Given the description of an element on the screen output the (x, y) to click on. 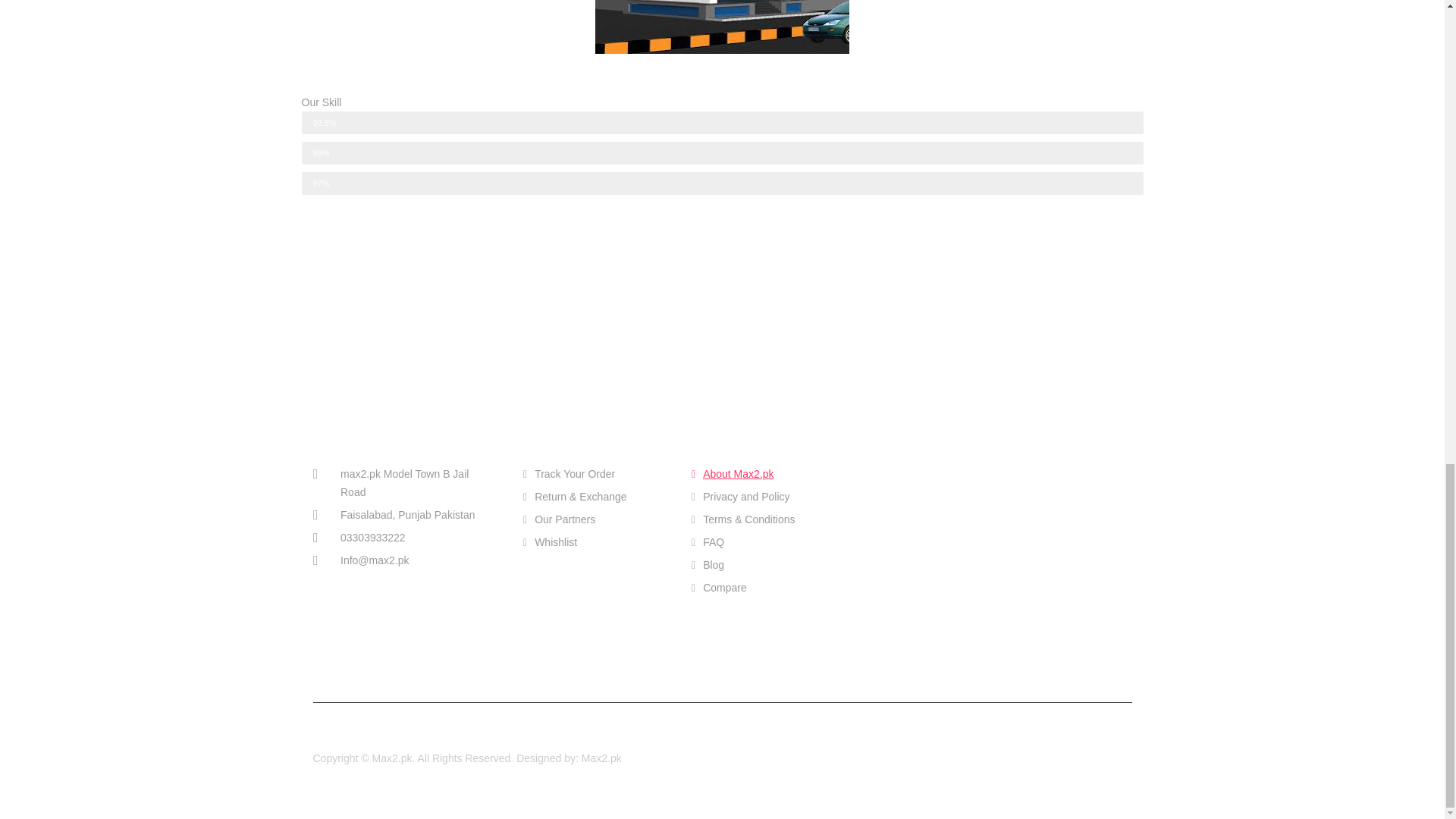
Compare (764, 587)
Track Your Order (595, 474)
Our Partners (595, 519)
03303933222 (404, 537)
max2.pk Model Town B Jail Road (404, 483)
Privacy and Policy (764, 496)
FAQ (764, 542)
Whishlist (595, 542)
Max2.pk (600, 758)
About Max2.pk (764, 474)
